Given the description of an element on the screen output the (x, y) to click on. 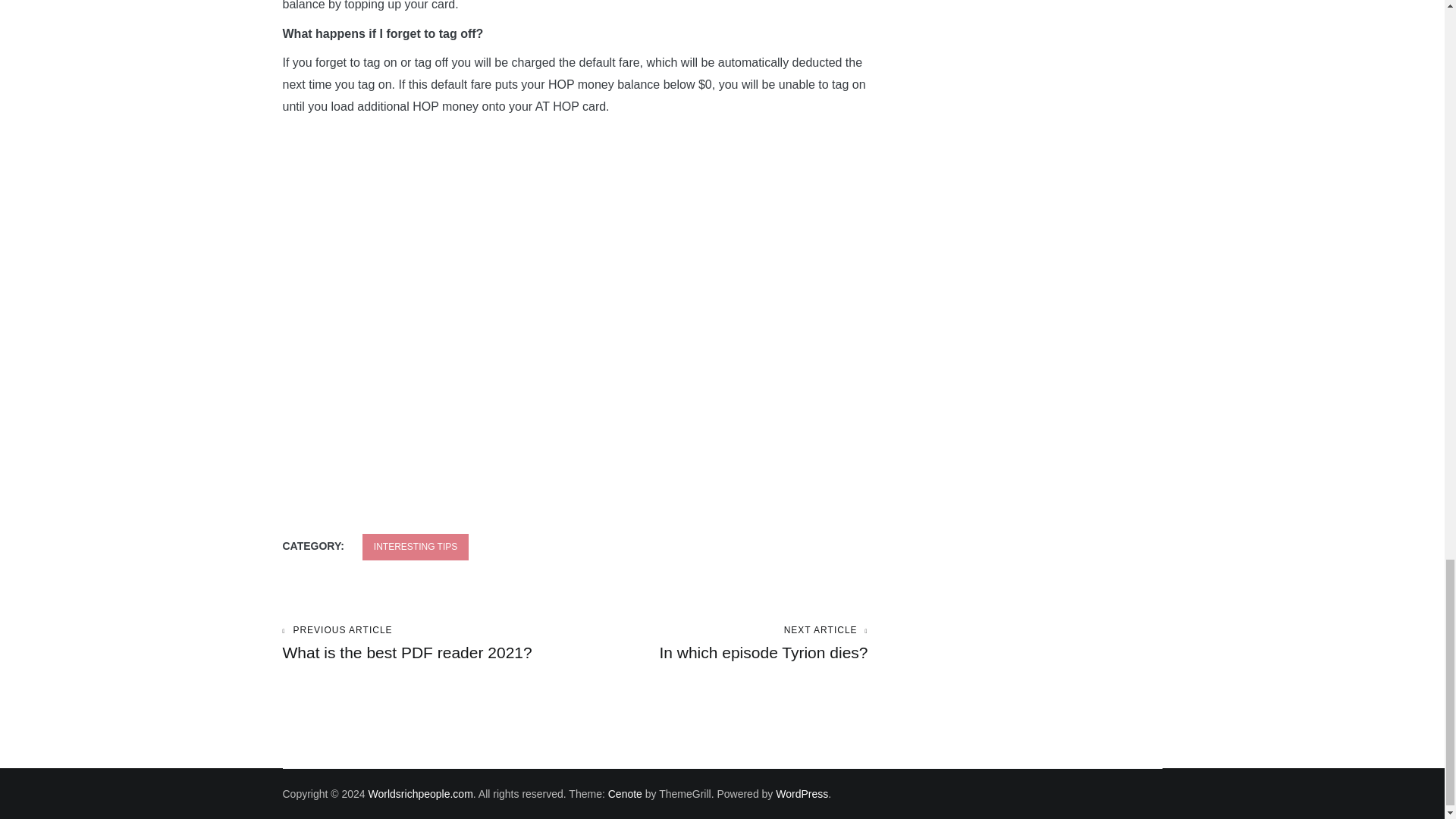
Worldsrichpeople.com (721, 642)
INTERESTING TIPS (428, 642)
